Given the description of an element on the screen output the (x, y) to click on. 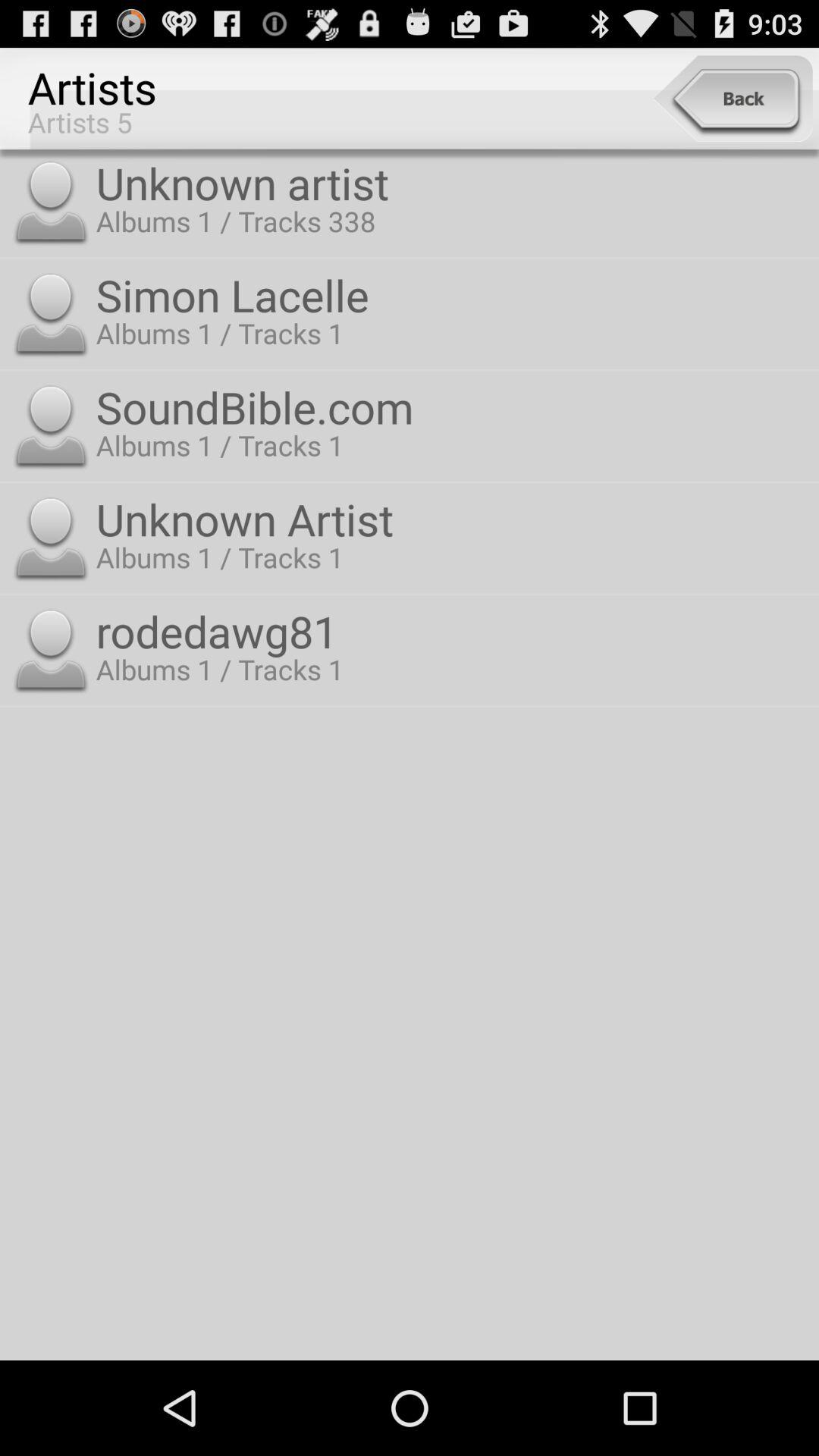
swipe until rodedawg81 app (454, 630)
